Given the description of an element on the screen output the (x, y) to click on. 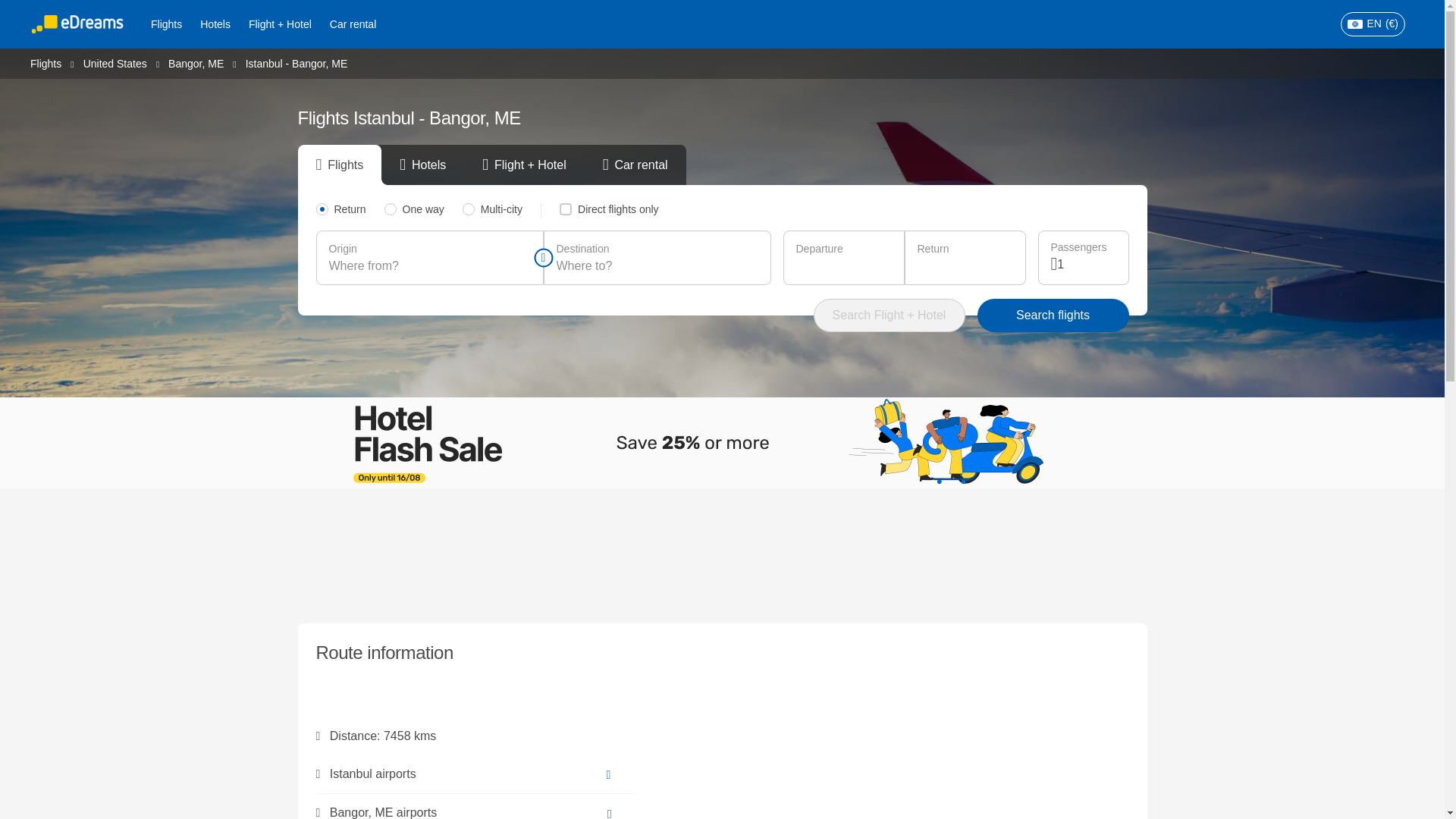
Istanbul - Bangor, ME (296, 63)
3rd party ad content (722, 552)
Flights (165, 24)
Search flights (1052, 315)
Bangor, ME (196, 62)
Car rental (352, 24)
1 (1086, 263)
United States (114, 62)
Hotels (215, 24)
Flights (45, 62)
